Given the description of an element on the screen output the (x, y) to click on. 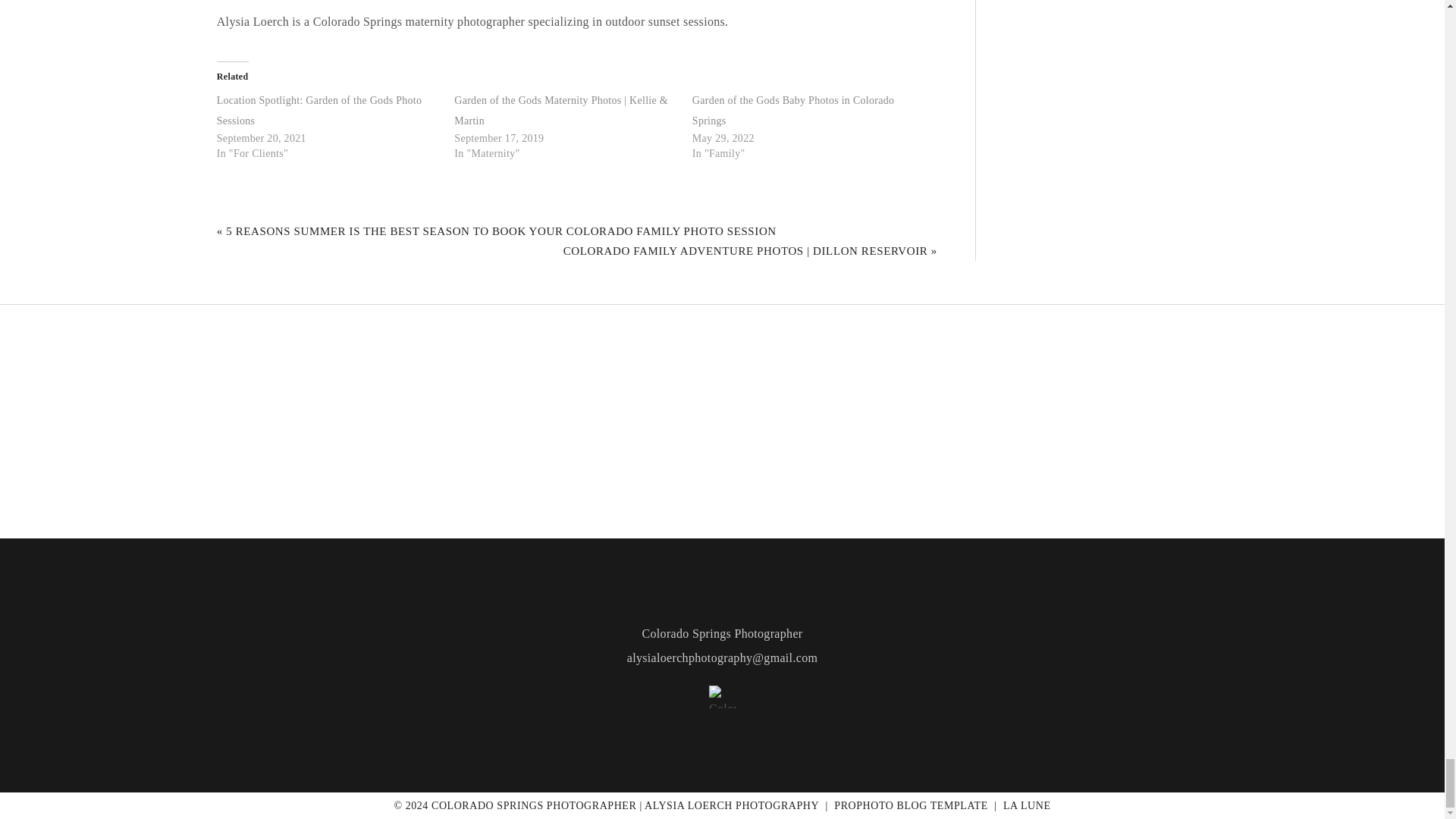
Location Spotlight: Garden of the Gods Photo Sessions (319, 110)
PROPHOTO BLOG TEMPLATE (910, 805)
Location Spotlight: Garden of the Gods Photo Sessions (319, 110)
Garden of the Gods Baby Photos in Colorado Springs (793, 110)
Garden of the Gods Baby Photos in Colorado Springs (793, 110)
LA LUNE (1027, 805)
ProPhoto WordPress Blog (910, 805)
